Given the description of an element on the screen output the (x, y) to click on. 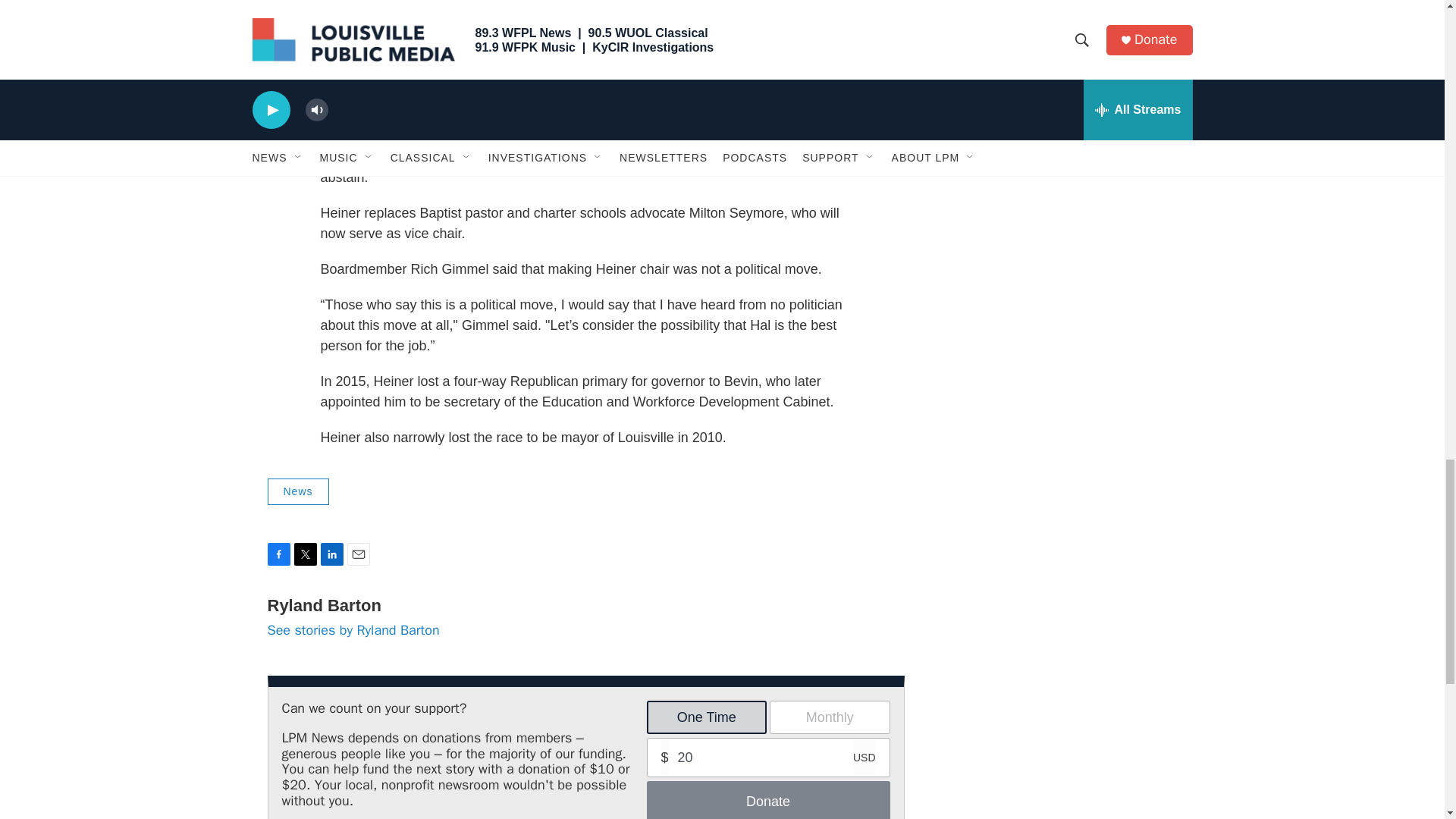
20 (768, 757)
3rd party ad content (1062, 74)
